Given the description of an element on the screen output the (x, y) to click on. 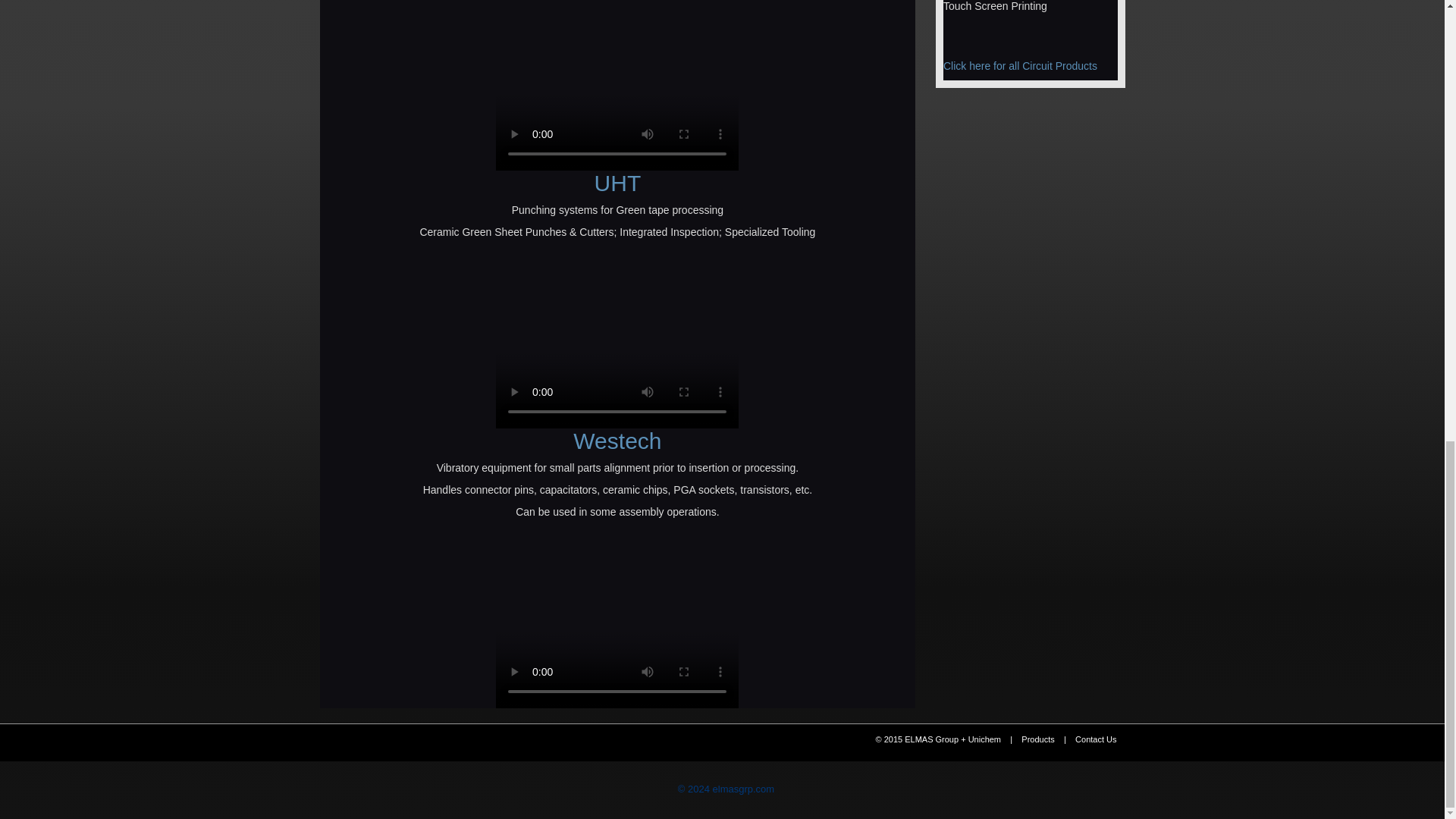
Westech, Co. Ltd. (617, 440)
UHT Equipment (618, 182)
Click here for all Circuit Products (1020, 65)
Westech (617, 440)
UHT (618, 182)
Products (1038, 738)
Contact Us (1095, 738)
